Given the description of an element on the screen output the (x, y) to click on. 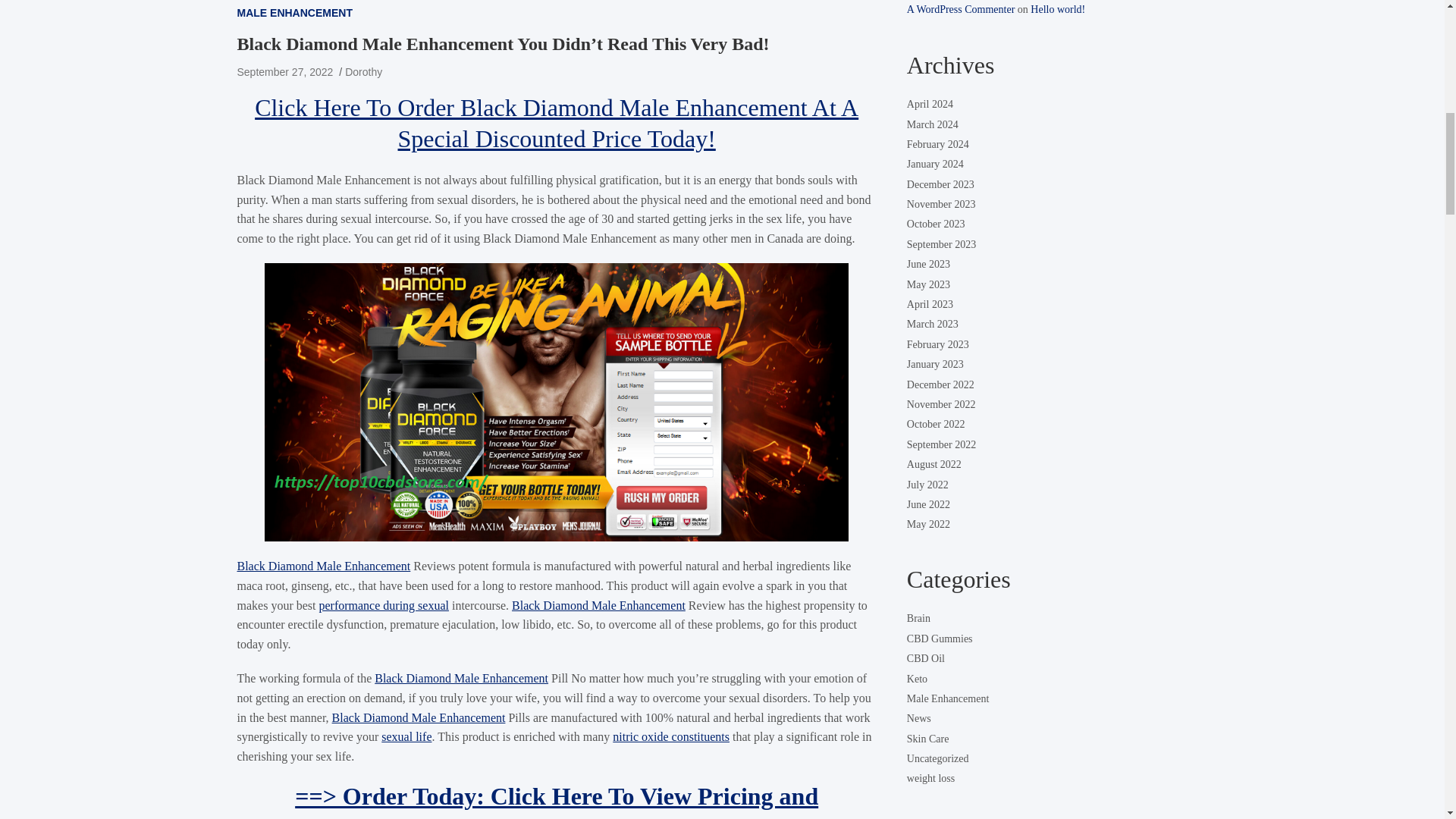
Black Diamond Male Enhancement (461, 677)
September 27, 2022 (284, 71)
sexual life (405, 736)
Dorothy (363, 71)
Black Diamond Male Enhancement (418, 717)
Black Diamond Male Enhancement (322, 565)
nitric oxide constituents (670, 736)
performance during sexual (383, 604)
MALE ENHANCEMENT (293, 12)
Black Diamond Male Enhancement (598, 604)
